Given the description of an element on the screen output the (x, y) to click on. 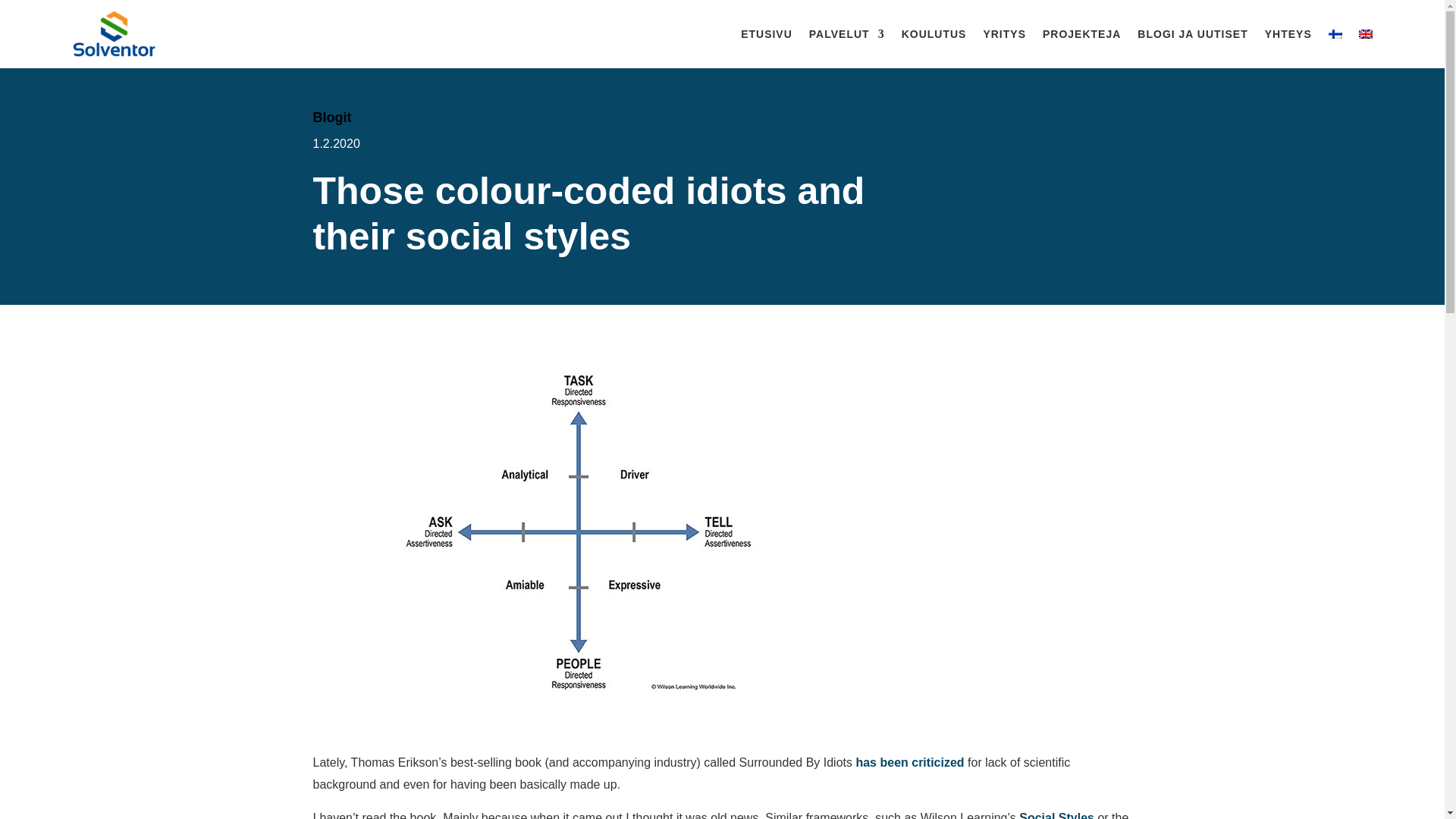
Blogit (331, 117)
PROJEKTEJA (1081, 34)
PALVELUT (847, 34)
BLOGI JA UUTISET (1192, 34)
has been criticized (912, 762)
KOULUTUS (933, 34)
Social Styles (1056, 815)
